Given the description of an element on the screen output the (x, y) to click on. 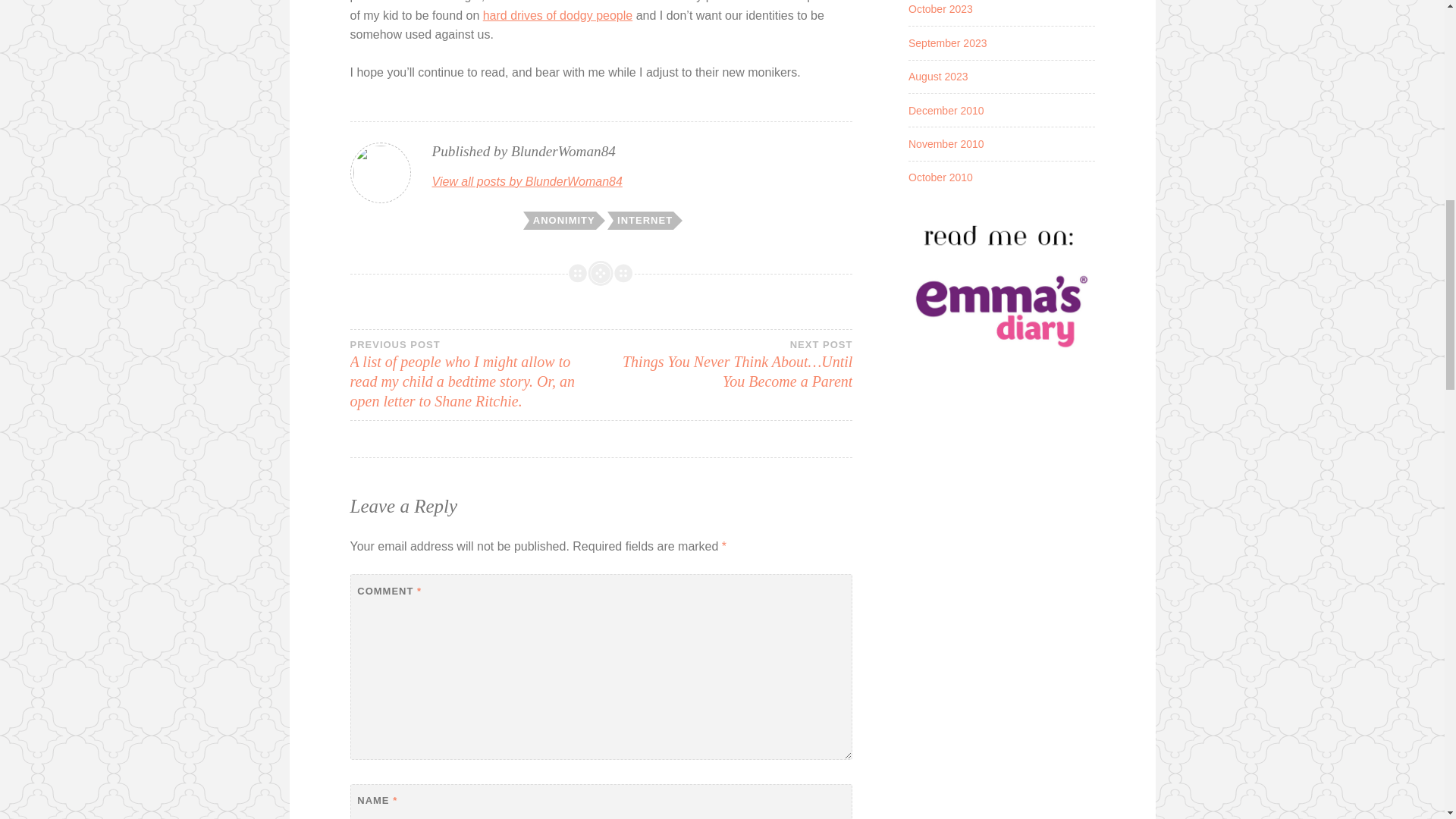
August 2023 (938, 76)
September 2023 (947, 42)
ANONIMITY (562, 220)
October 2010 (940, 177)
INTERNET (642, 220)
December 2010 (946, 110)
October 2023 (940, 9)
November 2010 (946, 143)
hard drives of dodgy people (557, 15)
